Given the description of an element on the screen output the (x, y) to click on. 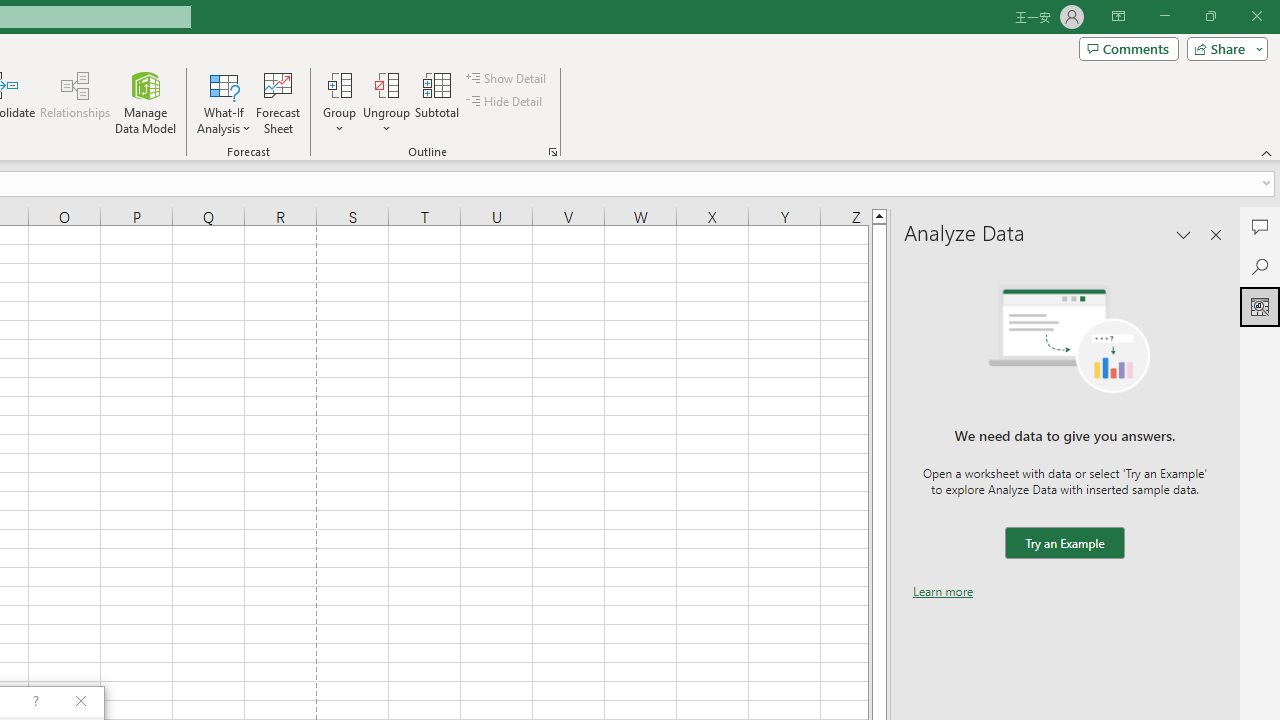
Group... (339, 84)
Learn more (943, 591)
Analyze Data (1260, 306)
Group and Outline Settings (552, 151)
Comments (1128, 48)
Relationships (75, 102)
Ribbon Display Options (1118, 16)
Task Pane Options (1183, 234)
Line up (879, 215)
Show Detail (507, 78)
Hide Detail (505, 101)
Ungroup... (386, 102)
Search (1260, 266)
